Given the description of an element on the screen output the (x, y) to click on. 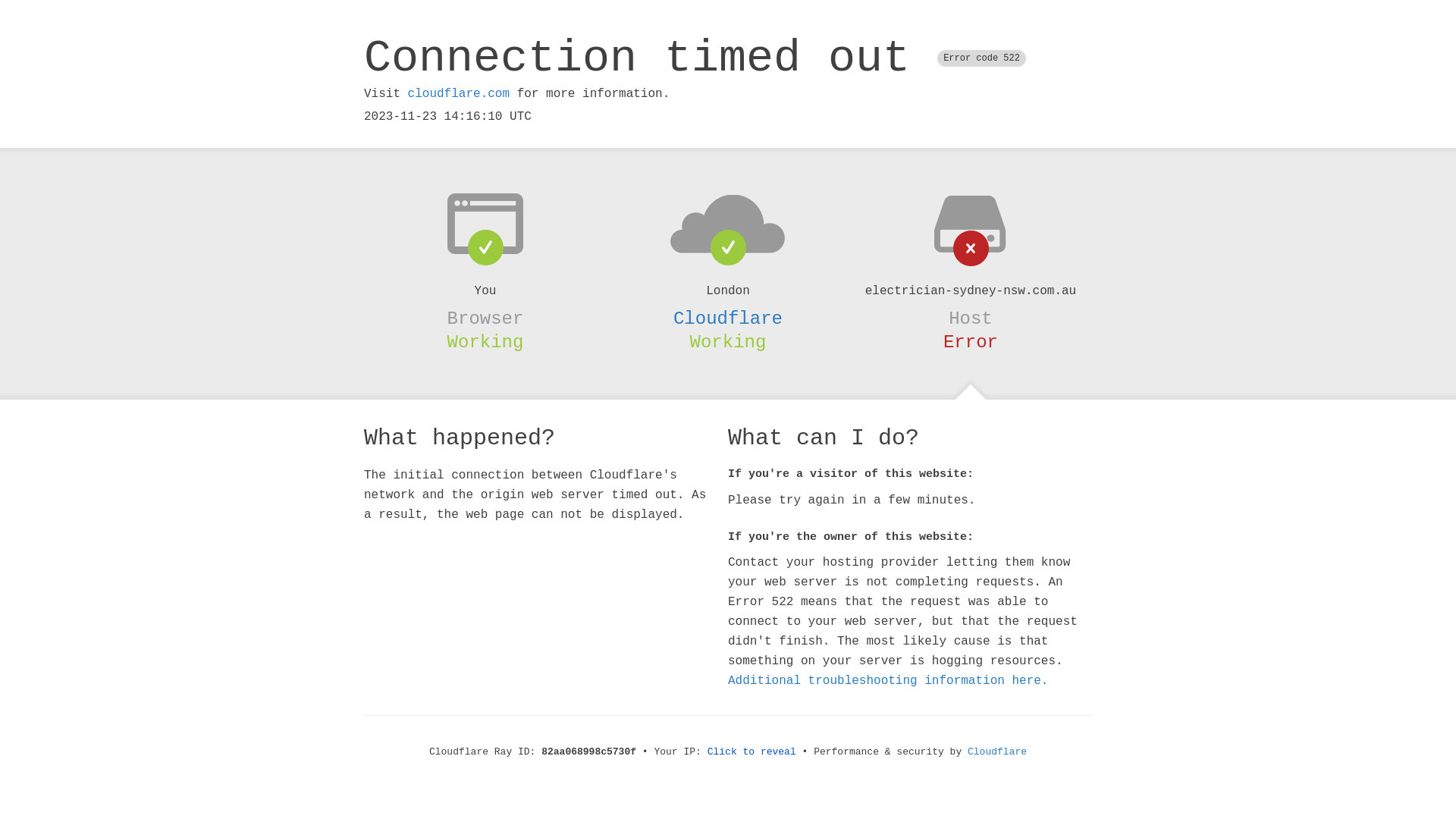
Click to reveal Element type: text (751, 751)
Additional troubleshooting information here. Element type: text (888, 680)
Cloudflare Element type: text (996, 751)
Cloudflare Element type: text (727, 318)
cloudflare.com Element type: text (458, 93)
